Given the description of an element on the screen output the (x, y) to click on. 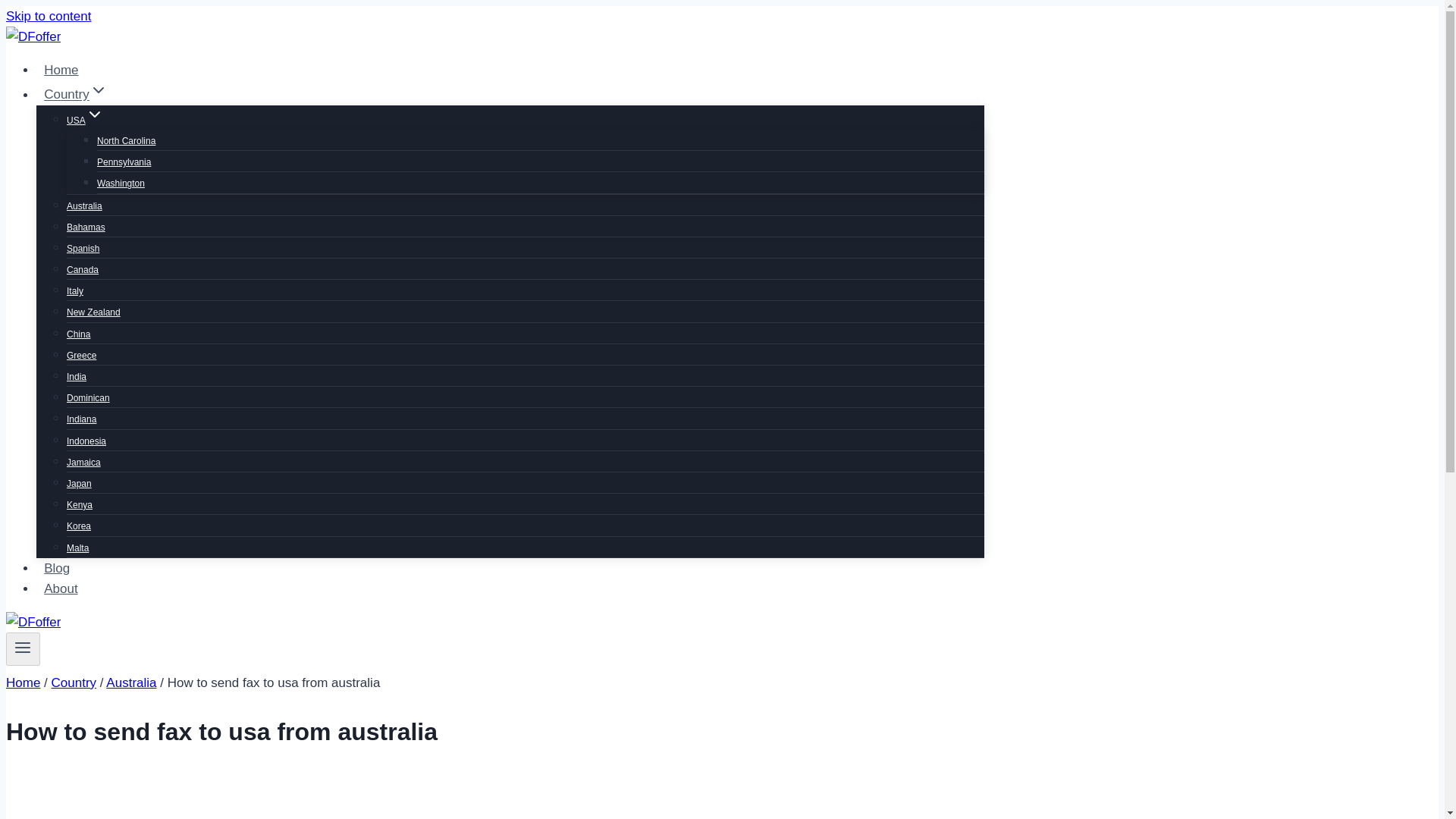
Spanish (82, 248)
North Carolina (126, 140)
Home (60, 70)
Expand (94, 114)
Indonesia (86, 440)
Expand (97, 90)
Bahamas (85, 226)
New Zealand (93, 312)
Dominican (88, 398)
CountryExpand (75, 93)
Country (73, 682)
Kenya (79, 504)
Home (22, 682)
Greece (81, 355)
Blog (56, 568)
